Given the description of an element on the screen output the (x, y) to click on. 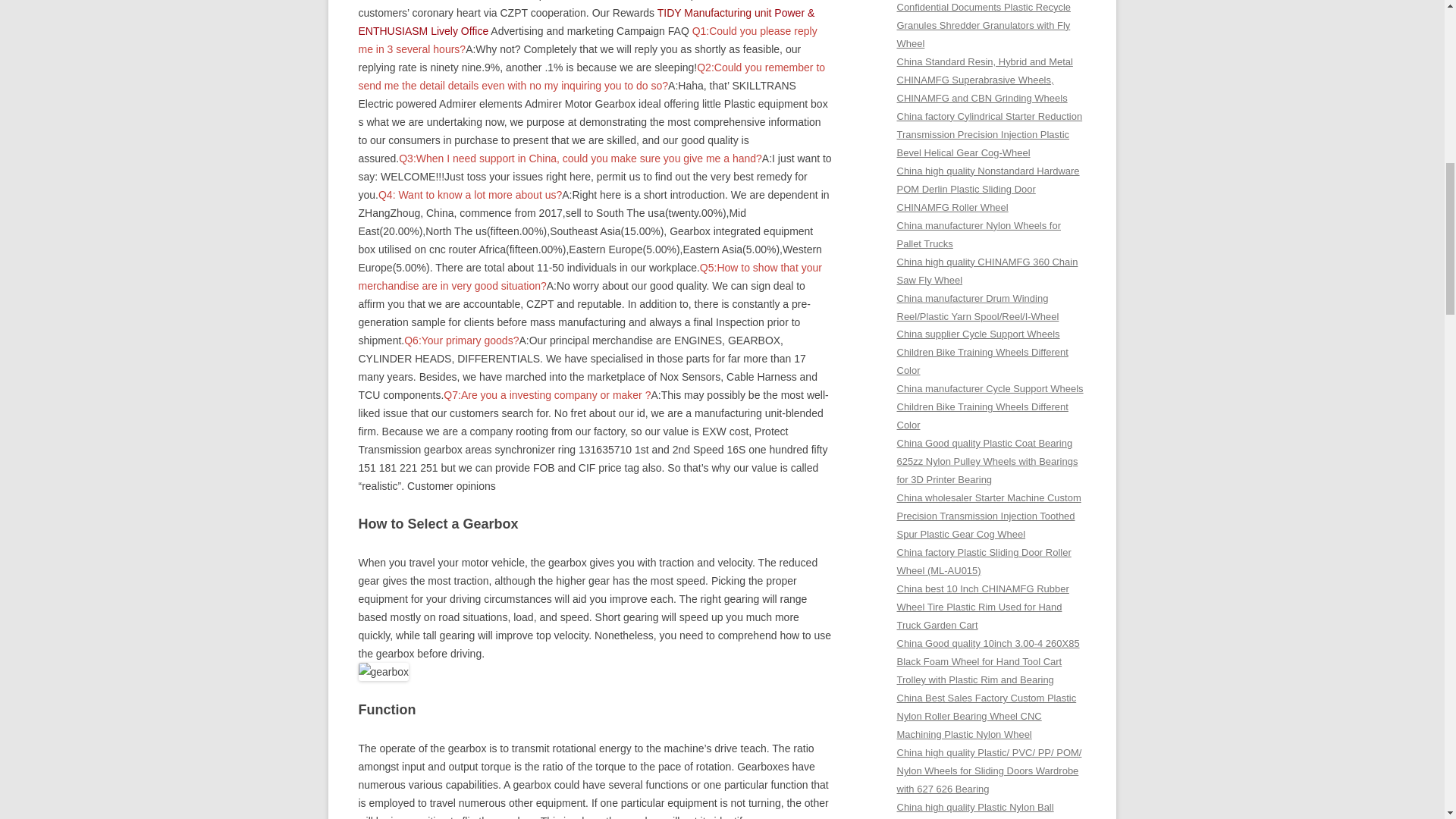
China manufacturer Nylon Wheels for Pallet Trucks (978, 234)
